Given the description of an element on the screen output the (x, y) to click on. 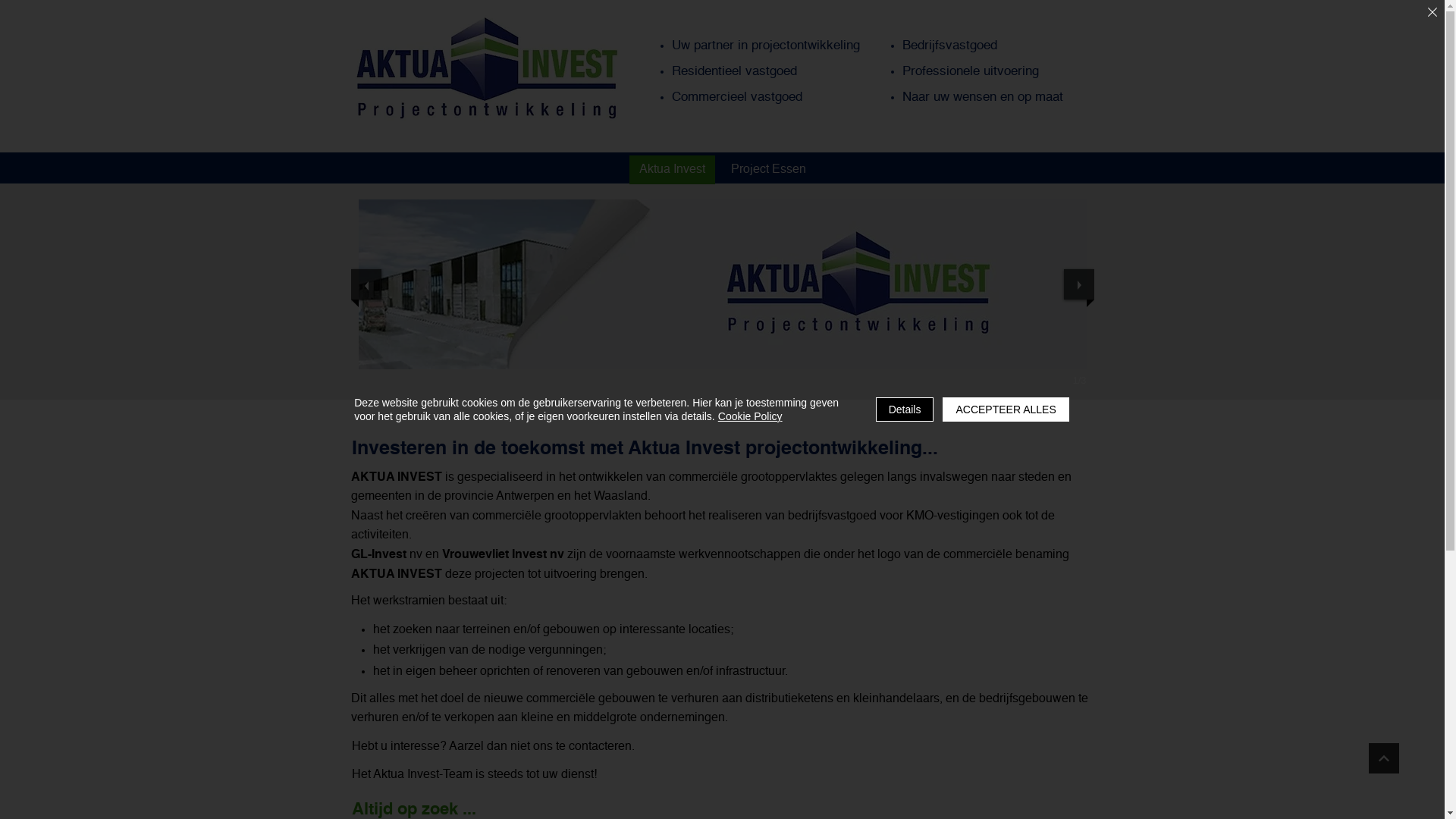
Details Element type: text (904, 409)
Project Essen Element type: text (767, 169)
Aktua Invest Projectontwikkeling Element type: hover (486, 68)
ACCEPTEER ALLES Element type: text (1005, 409)
Aktua Invest Element type: text (672, 169)
Cookie Policy Element type: text (750, 416)
